Given the description of an element on the screen output the (x, y) to click on. 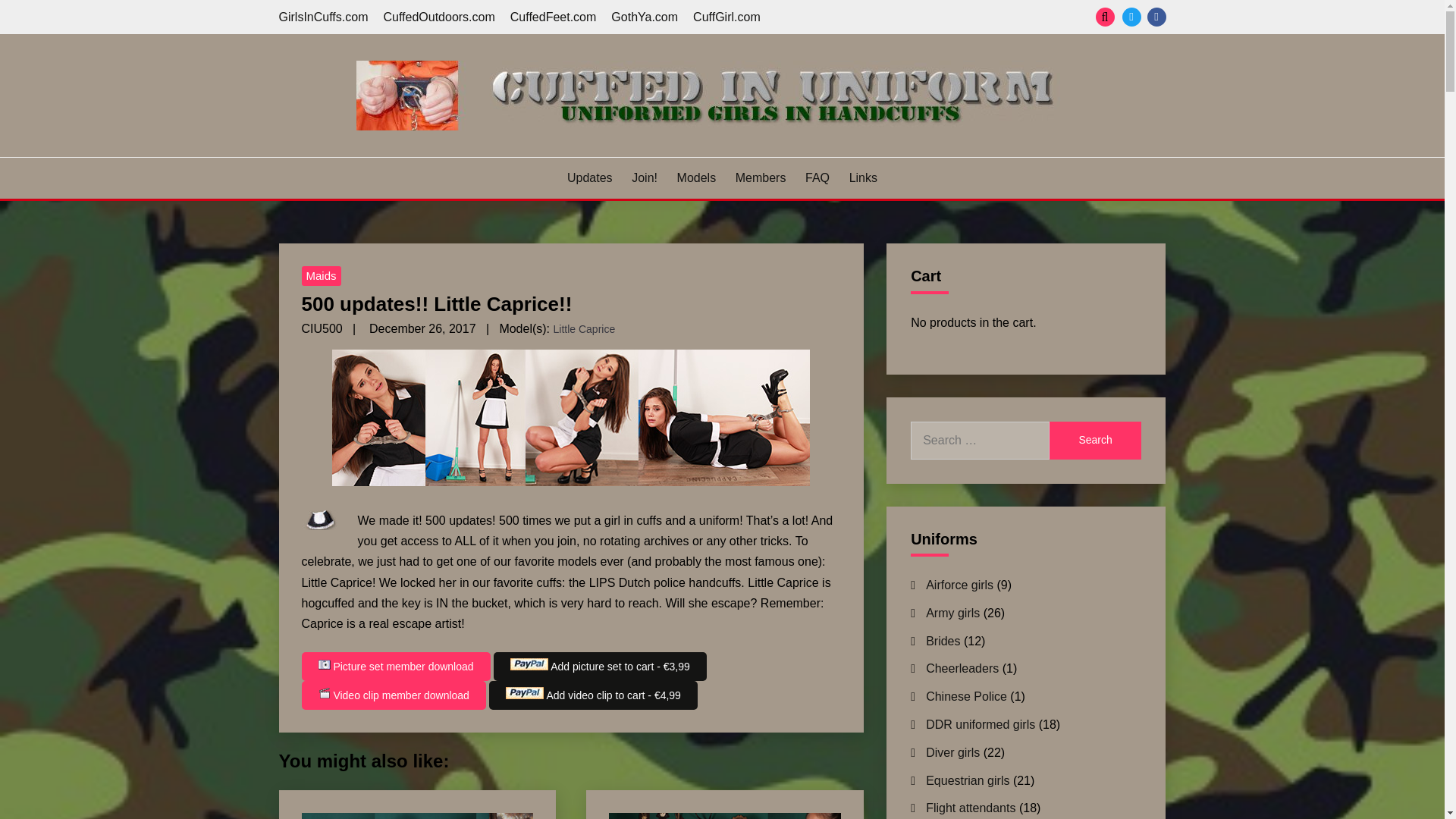
Maids (320, 275)
Little Caprice (584, 329)
Facebook (1156, 16)
Updates (589, 177)
GothYa.com (644, 16)
CuffGirl.com (726, 16)
Search (832, 18)
CuffedOutdoors.com (438, 16)
Models (696, 177)
Join! (644, 177)
GirlsInCuffs.com (323, 16)
FAQ (817, 177)
Members (760, 177)
CUFFED IN UNIFORM (422, 154)
Links (862, 177)
